Given the description of an element on the screen output the (x, y) to click on. 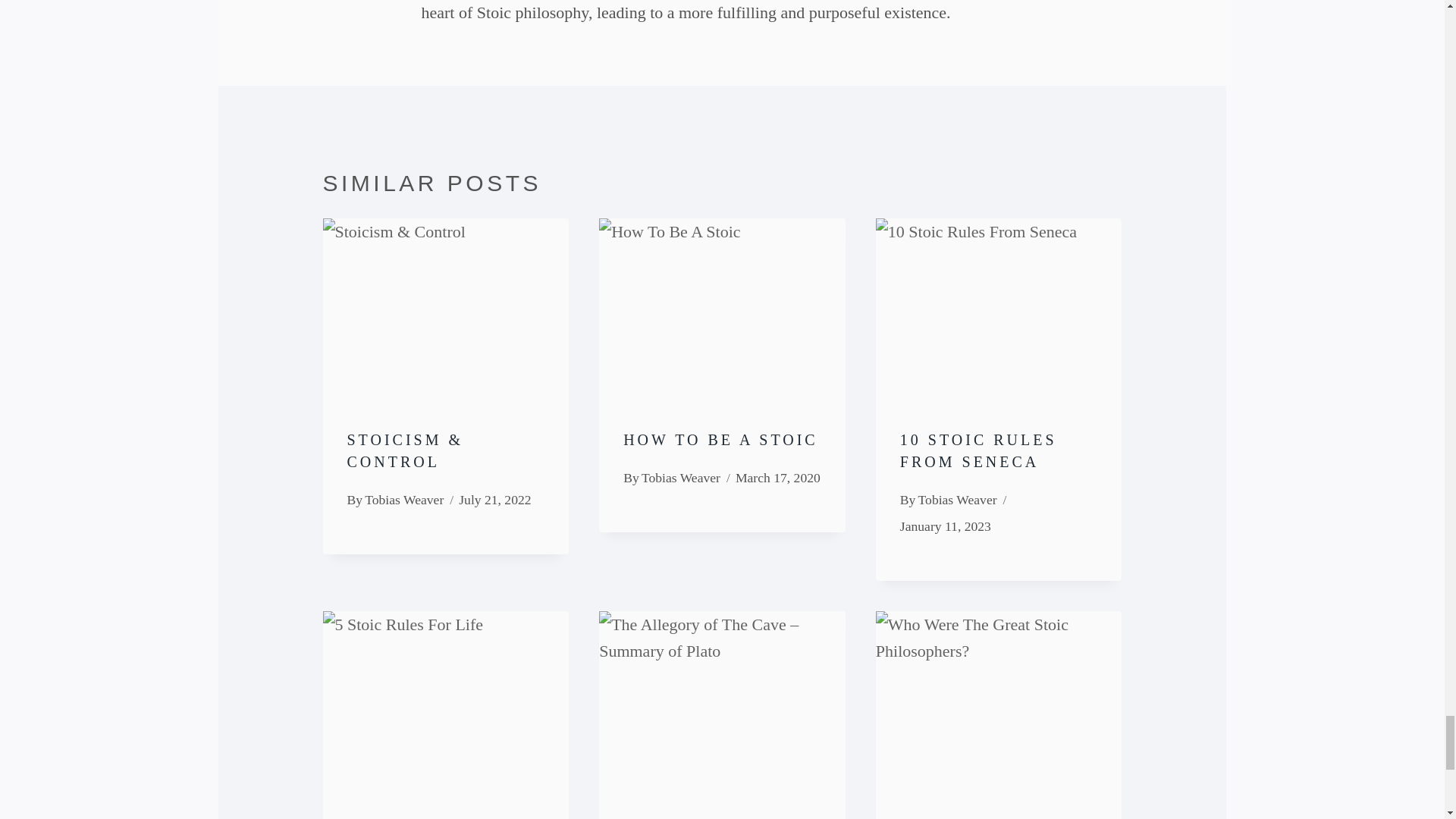
Tobias Weaver (957, 499)
Tobias Weaver (404, 499)
Tobias Weaver (681, 477)
The Allegory of The Cave - Summary of Plato 11 (721, 692)
5 Stoic Rules For Life 10 (446, 692)
10 STOIC RULES FROM SENECA (978, 450)
How To Be A Stoic 5 (721, 300)
10 Stoic Rules From Seneca 9 (999, 300)
HOW TO BE A STOIC (720, 439)
Who Were The Great Stoic Philosophers? 14 (999, 692)
